Given the description of an element on the screen output the (x, y) to click on. 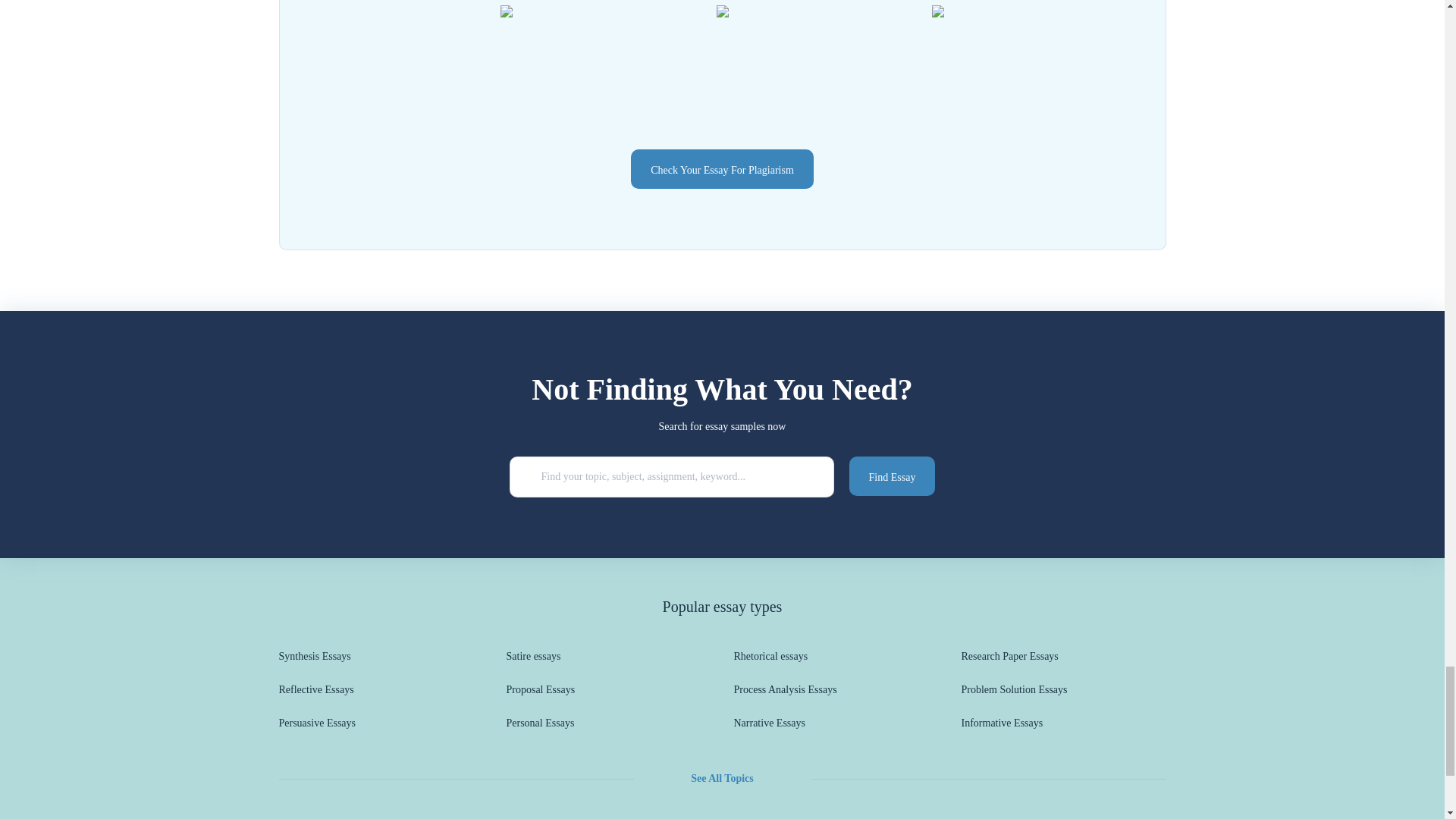
Find Essay (892, 476)
Check Your Essay For Plagiarism (721, 169)
